Given the description of an element on the screen output the (x, y) to click on. 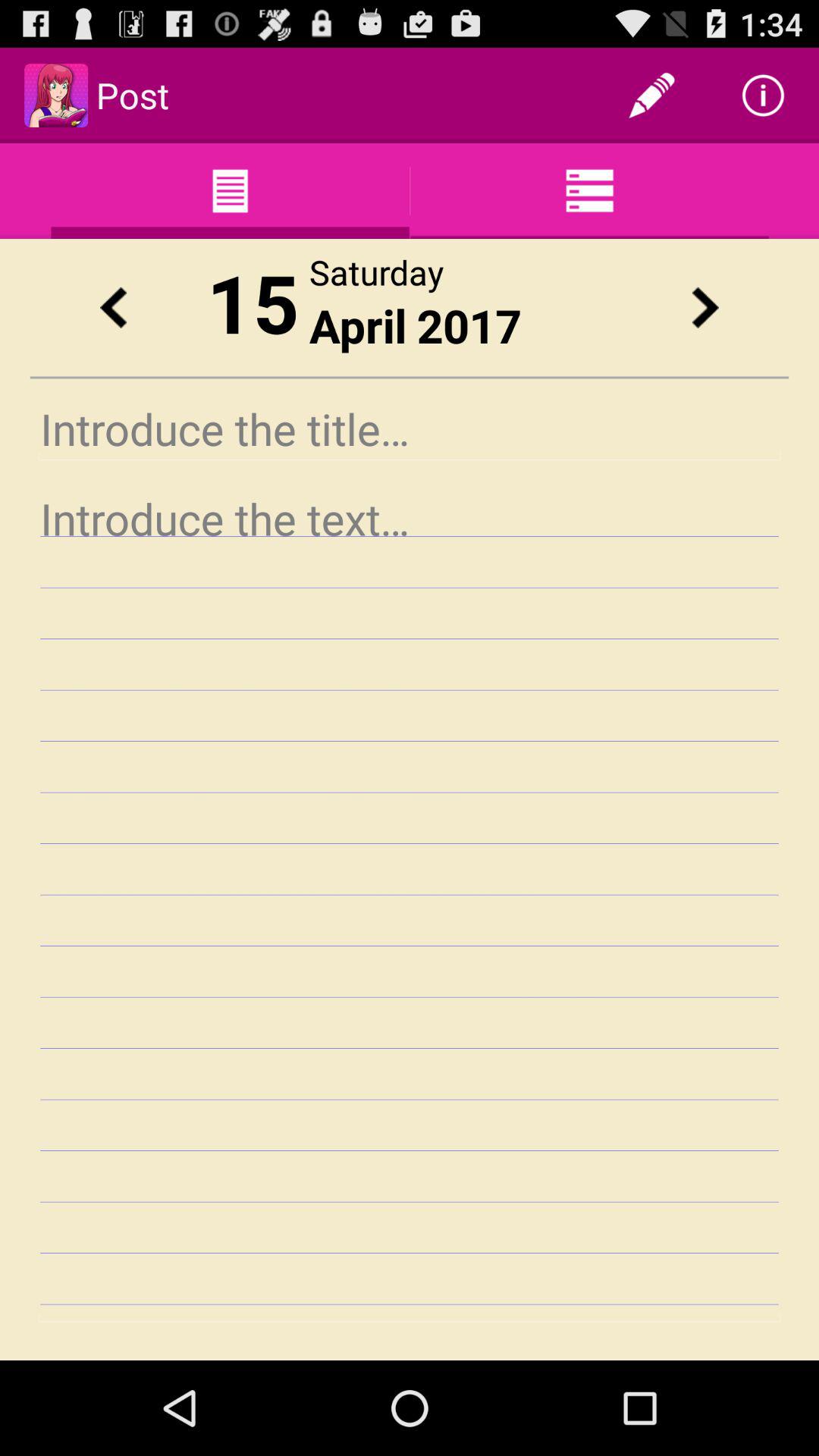
text box (409, 904)
